Given the description of an element on the screen output the (x, y) to click on. 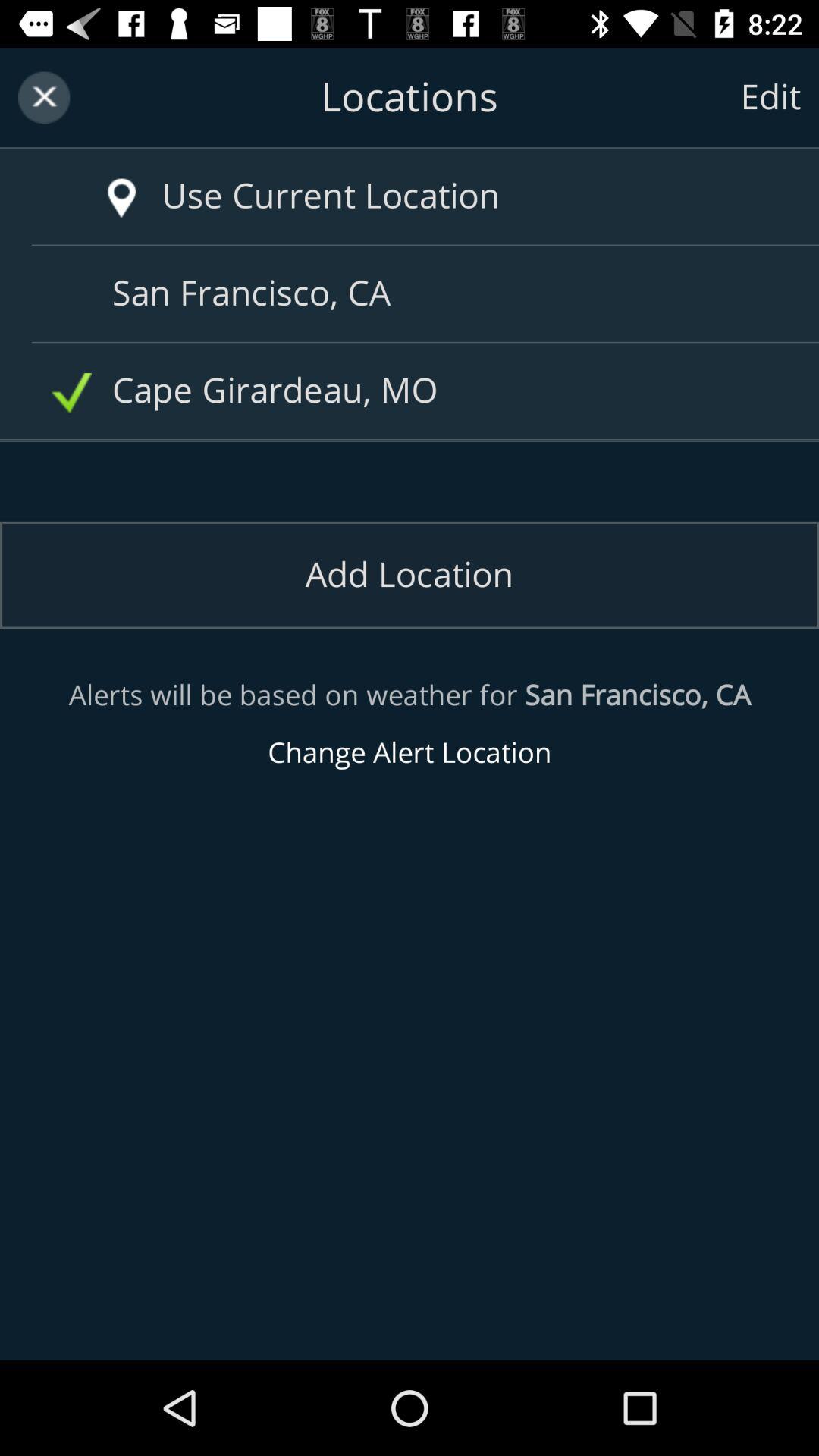
click on the tick icon (71, 392)
select the cross button (43, 97)
click on the second location below san franciscoca (415, 390)
